Given the description of an element on the screen output the (x, y) to click on. 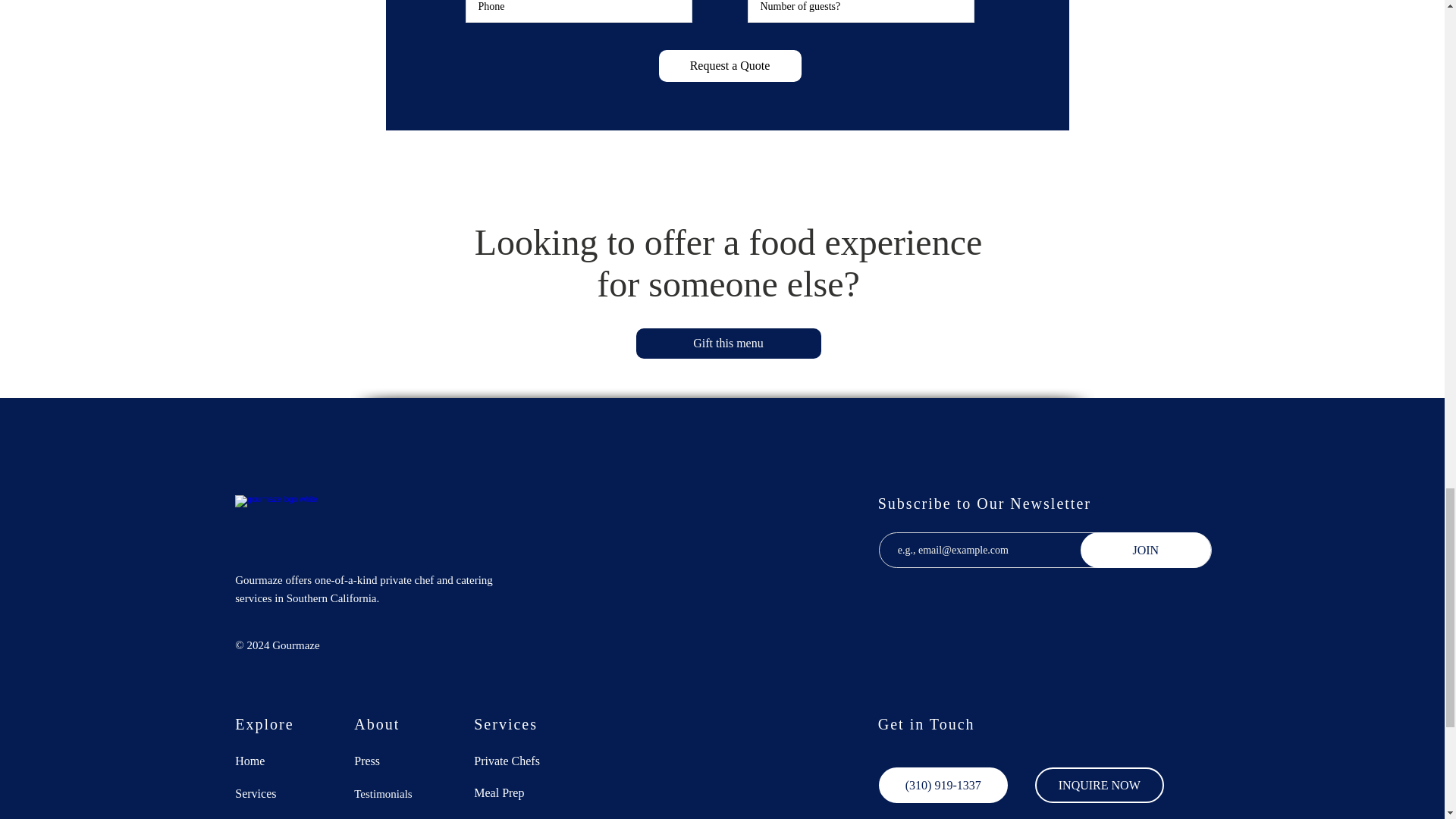
About (277, 817)
Request a Quote (729, 65)
Services (277, 793)
INQUIRE NOW (1099, 785)
JOIN (1145, 550)
Testimonials (397, 793)
Large Events (517, 817)
Get in Touch (926, 723)
Gallery (397, 817)
Press (397, 760)
Meal Prep (517, 792)
Home (277, 760)
Private Chefs (517, 760)
Gift this menu (727, 343)
